Given the description of an element on the screen output the (x, y) to click on. 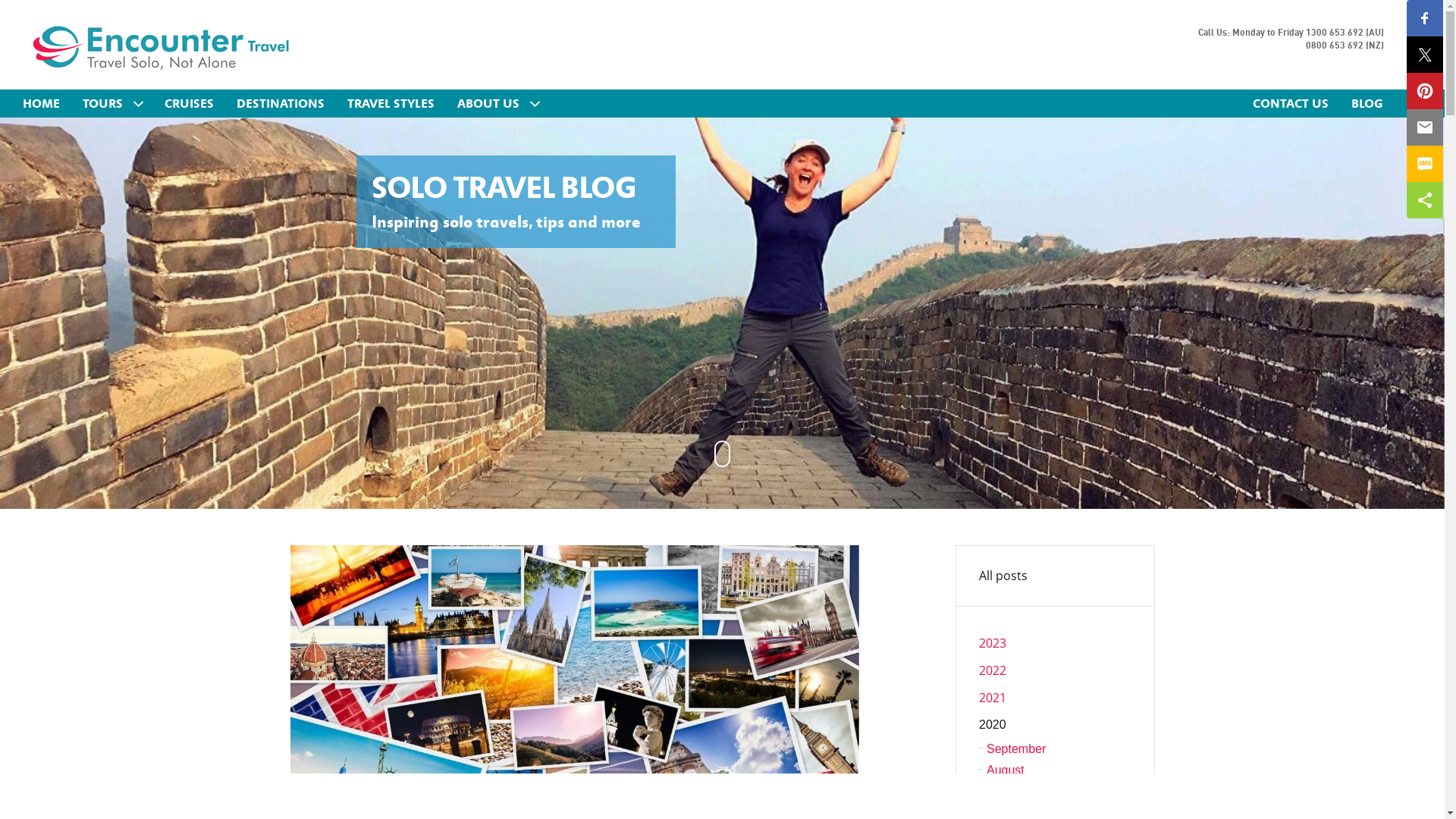
1300 653 692 (AU) Element type: text (1344, 32)
CRUISES Element type: text (189, 103)
DESTINATIONS Element type: text (280, 103)
2021 Element type: text (1055, 697)
HOME Element type: text (41, 103)
TRAVEL STYLES Element type: text (390, 103)
TOURS Element type: text (112, 103)
All posts Element type: text (1055, 575)
CONTACT US Element type: text (1290, 103)
2022 Element type: text (1055, 670)
Encounter Travel Element type: text (160, 46)
2023 Element type: text (1055, 642)
July Element type: text (1055, 791)
2020 Element type: text (1055, 724)
ABOUT US Element type: text (497, 103)
August Element type: text (1055, 770)
0800 653 692 (NZ) Element type: text (1344, 45)
BLOG Element type: text (1366, 103)
September Element type: text (1055, 748)
